Given the description of an element on the screen output the (x, y) to click on. 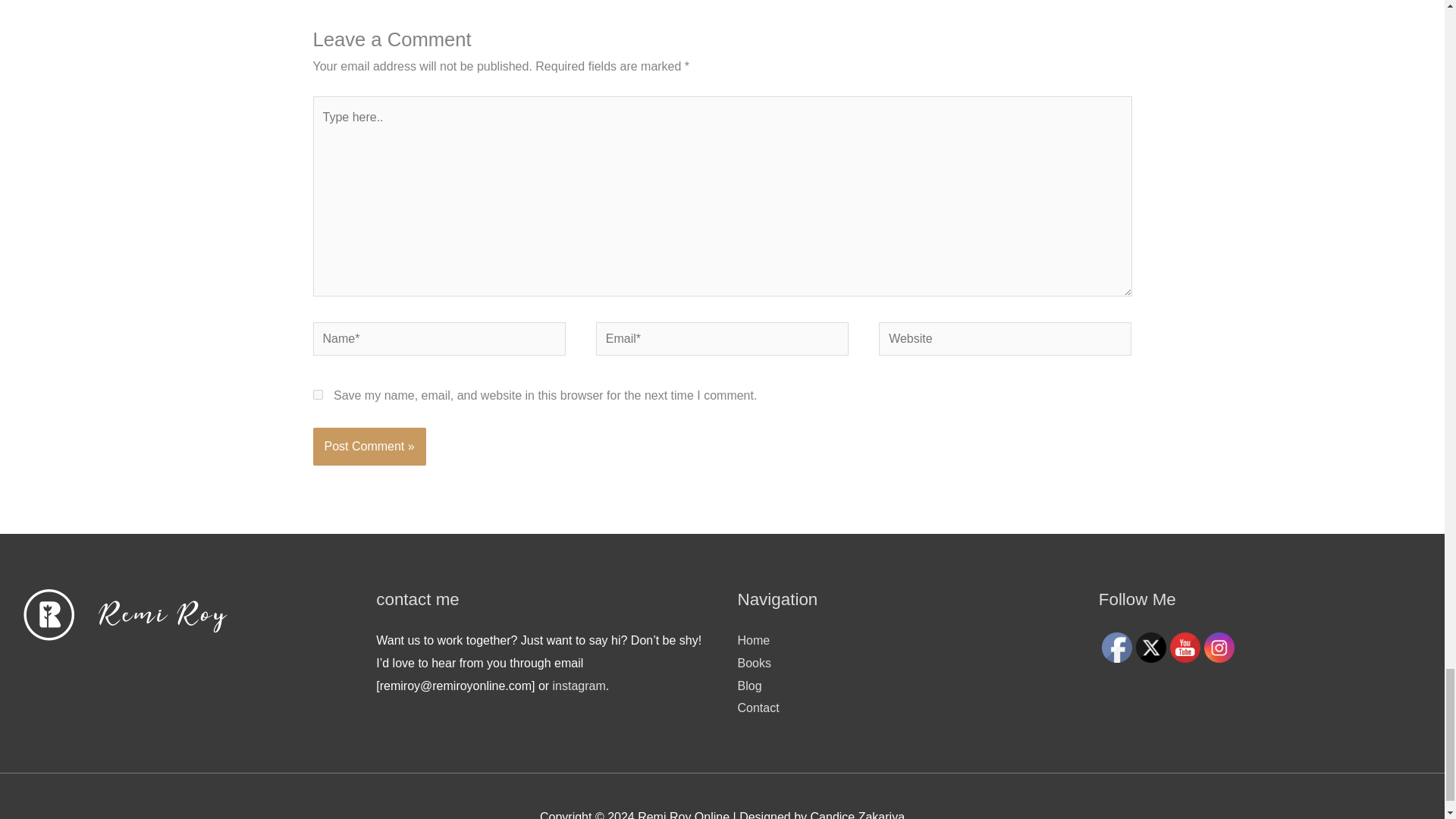
YouTube (1184, 647)
Books (753, 662)
instagram (579, 685)
Instagram (1219, 647)
yes (317, 394)
Blog (748, 685)
Home (753, 640)
Twitter (1150, 647)
Contact (757, 707)
Facebook (1117, 647)
